Given the description of an element on the screen output the (x, y) to click on. 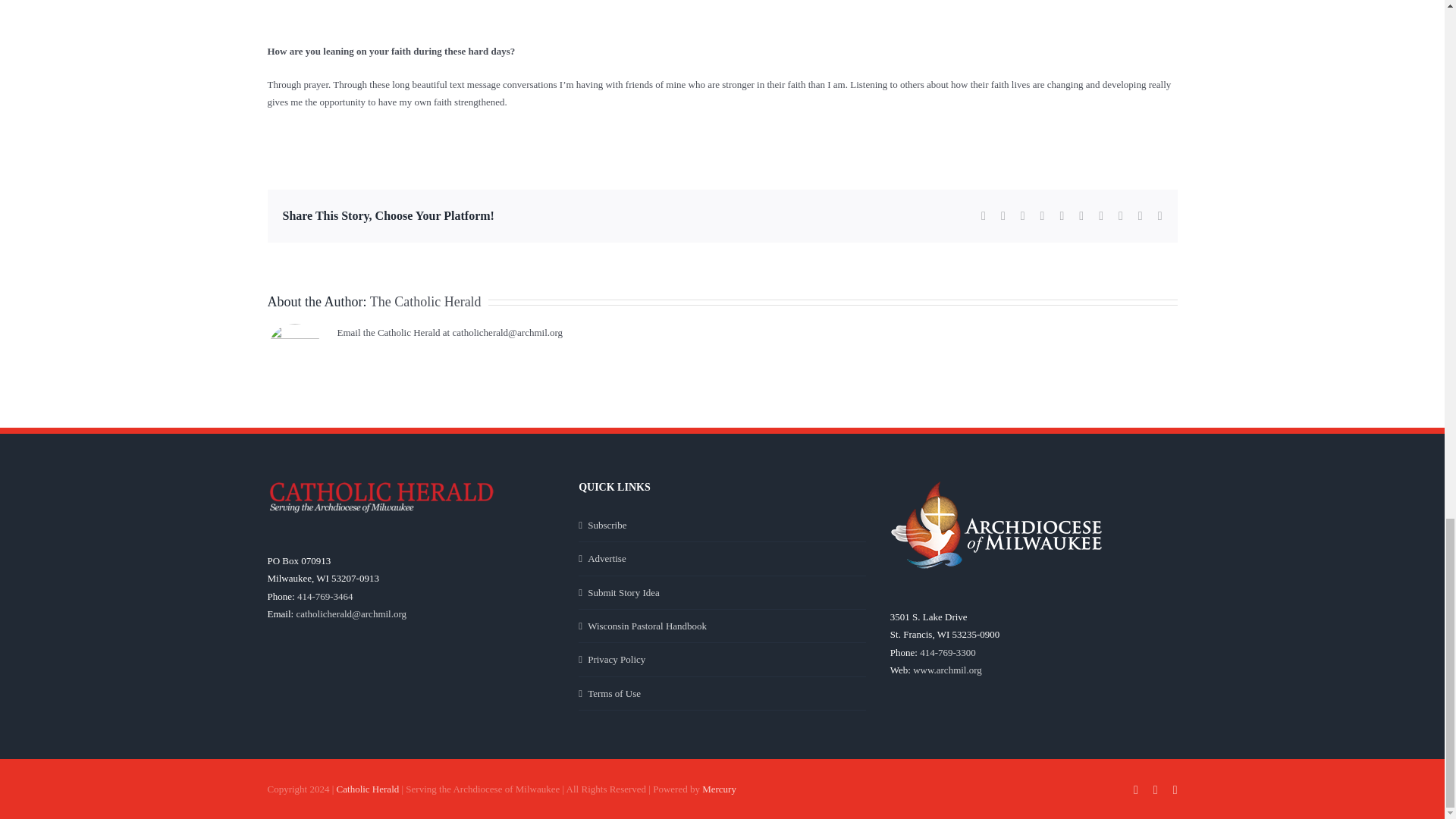
Posts by The Catholic Herald (425, 301)
